Given the description of an element on the screen output the (x, y) to click on. 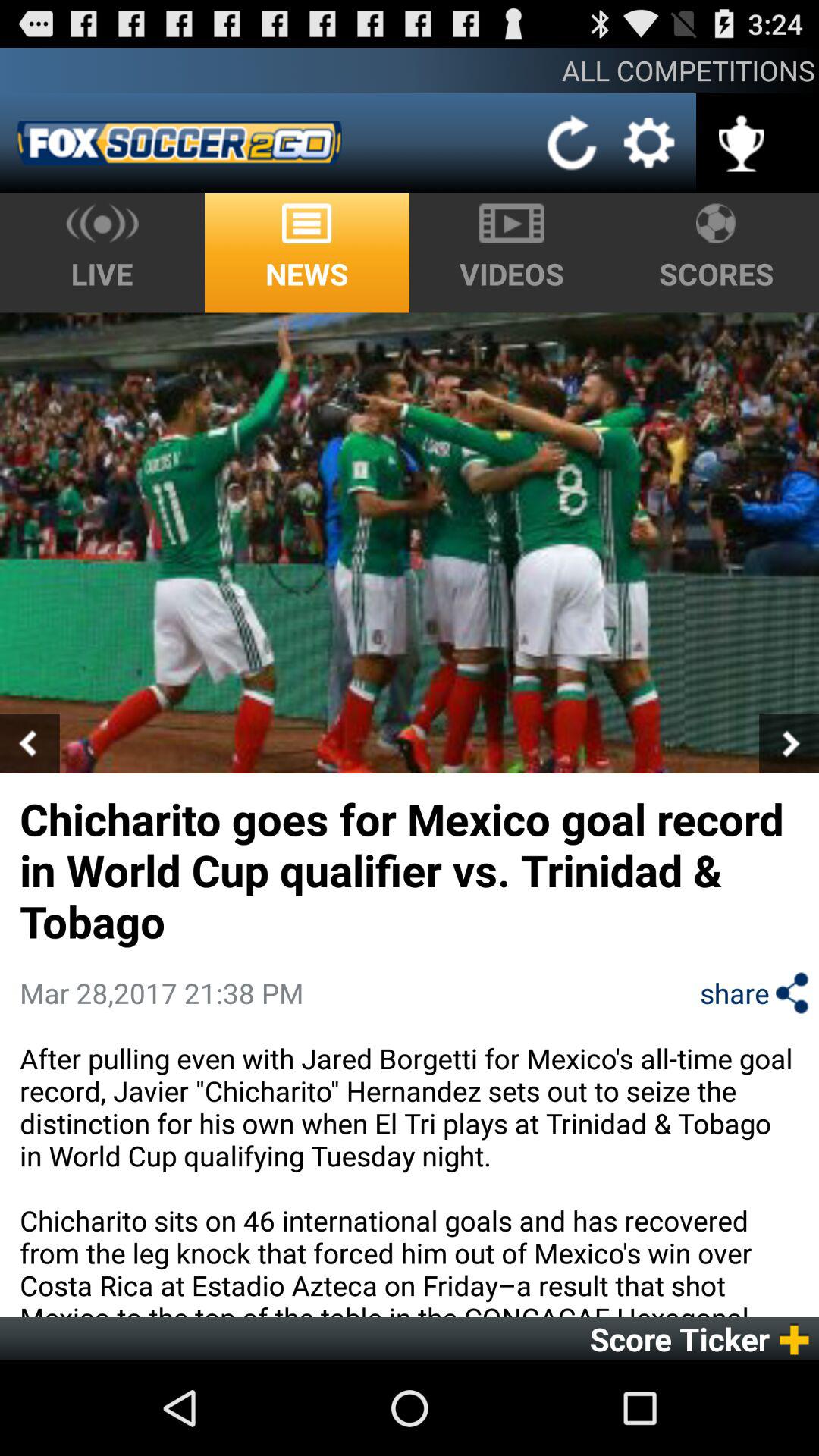
press icon above score ticker app (409, 1178)
